Given the description of an element on the screen output the (x, y) to click on. 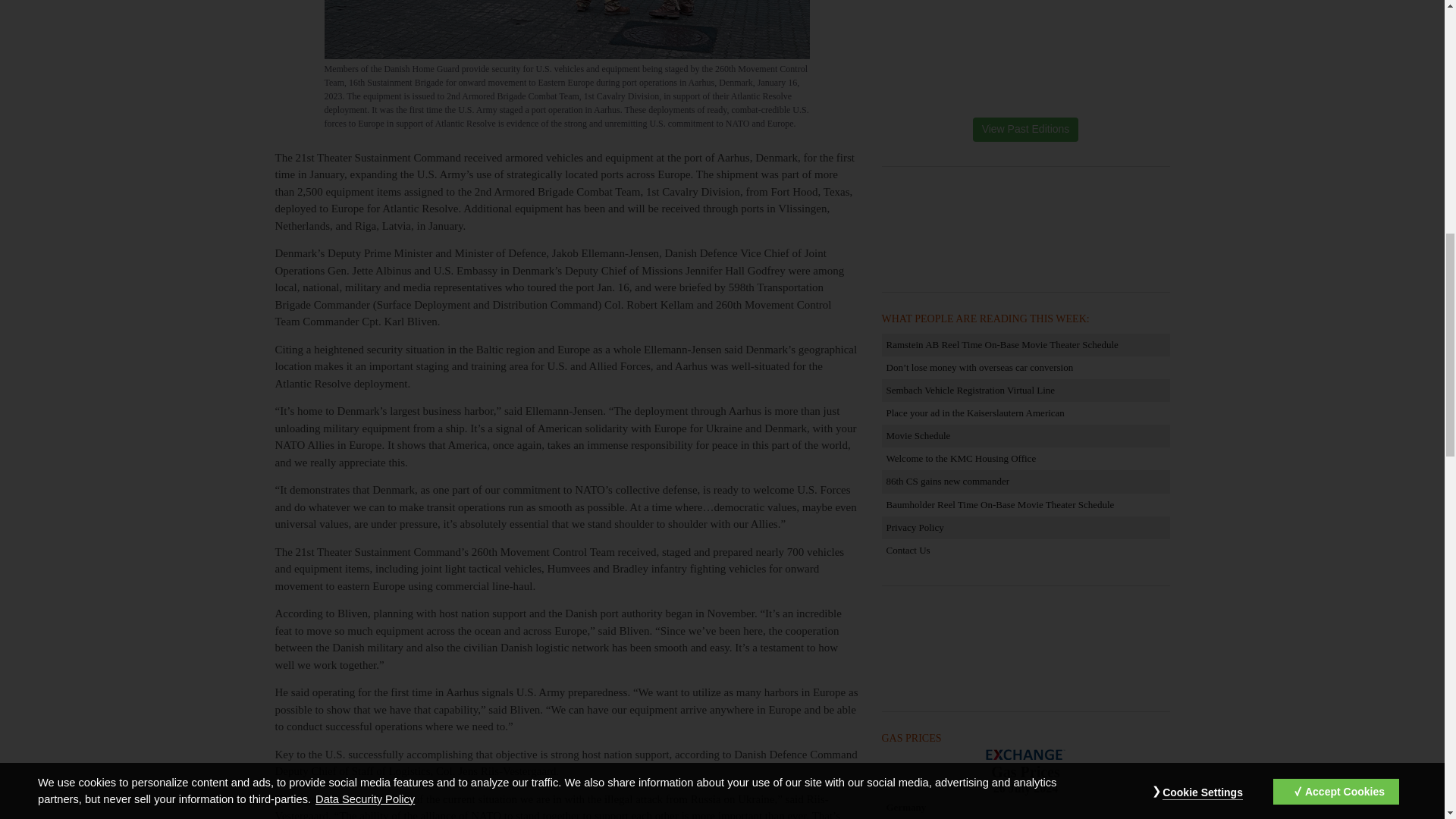
3rd party ad content (1025, 231)
3rd party ad content (1025, 650)
